Given the description of an element on the screen output the (x, y) to click on. 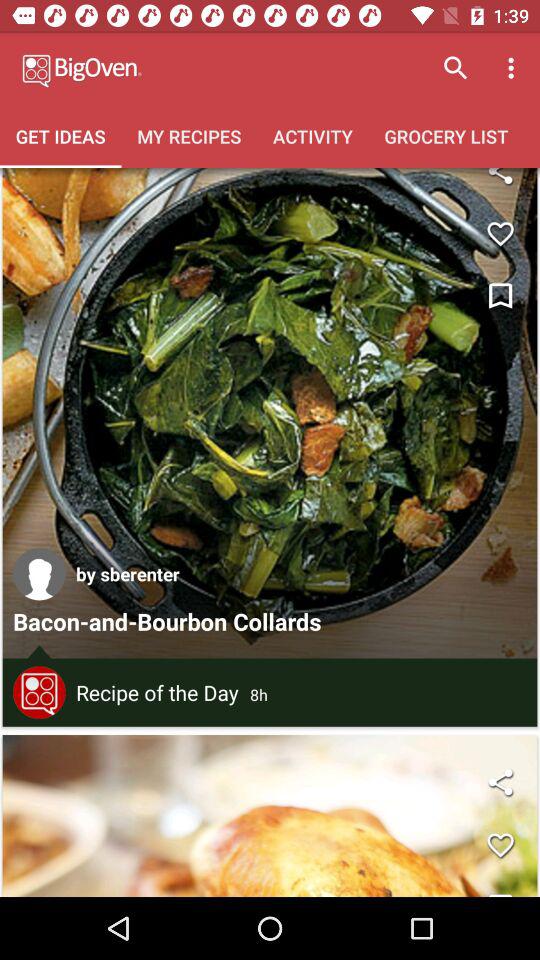
like button (500, 233)
